Given the description of an element on the screen output the (x, y) to click on. 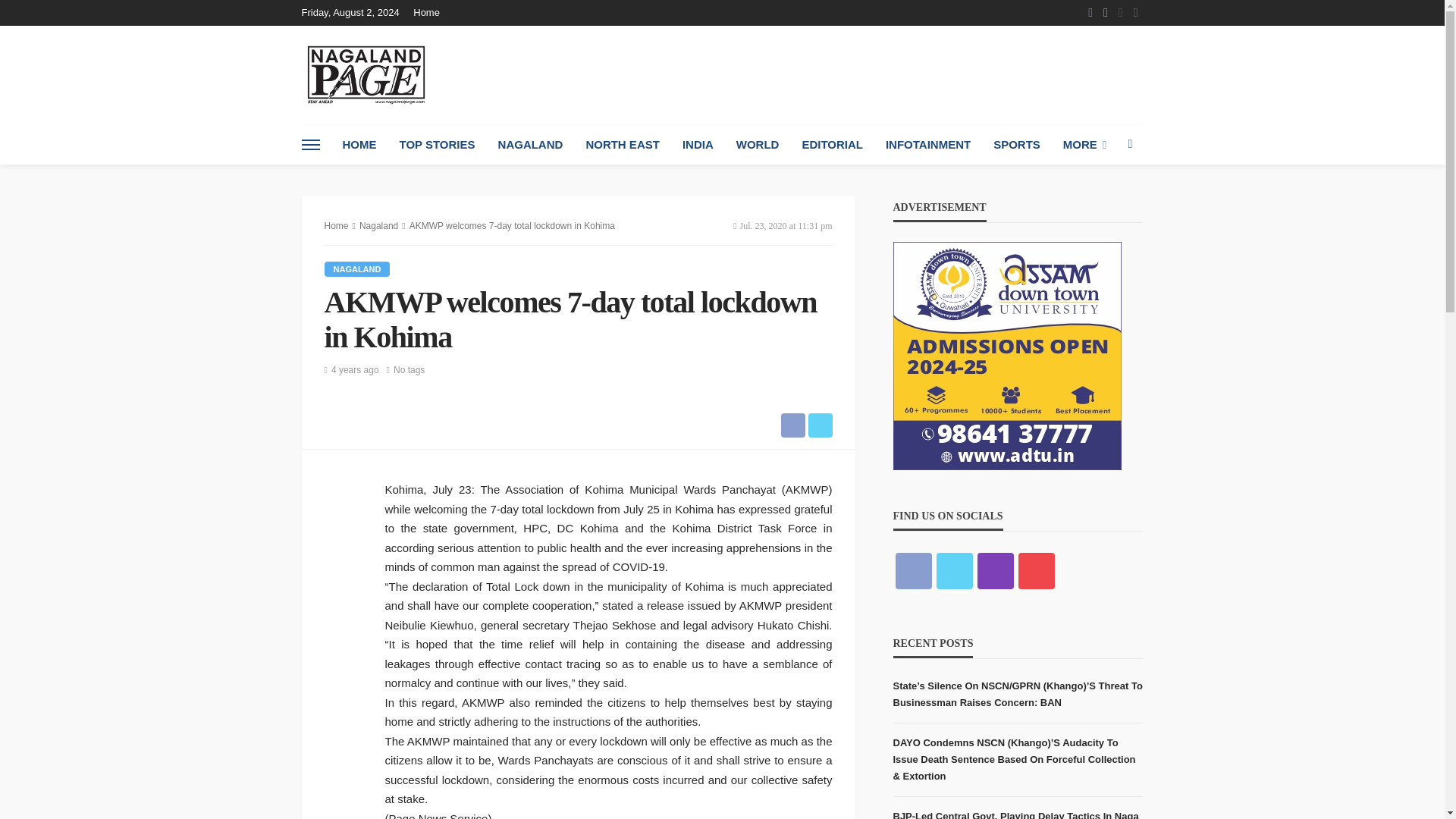
NAGALAND (530, 144)
MORE (1084, 144)
WORLD (757, 144)
TOP STORIES (437, 144)
INDIA (698, 144)
HOME (358, 144)
nagaland-page-logo (365, 74)
INFOTAINMENT (928, 144)
SPORTS (1016, 144)
Nagaland (357, 268)
EDITORIAL (832, 144)
NORTH EAST (622, 144)
Home (429, 12)
